Given the description of an element on the screen output the (x, y) to click on. 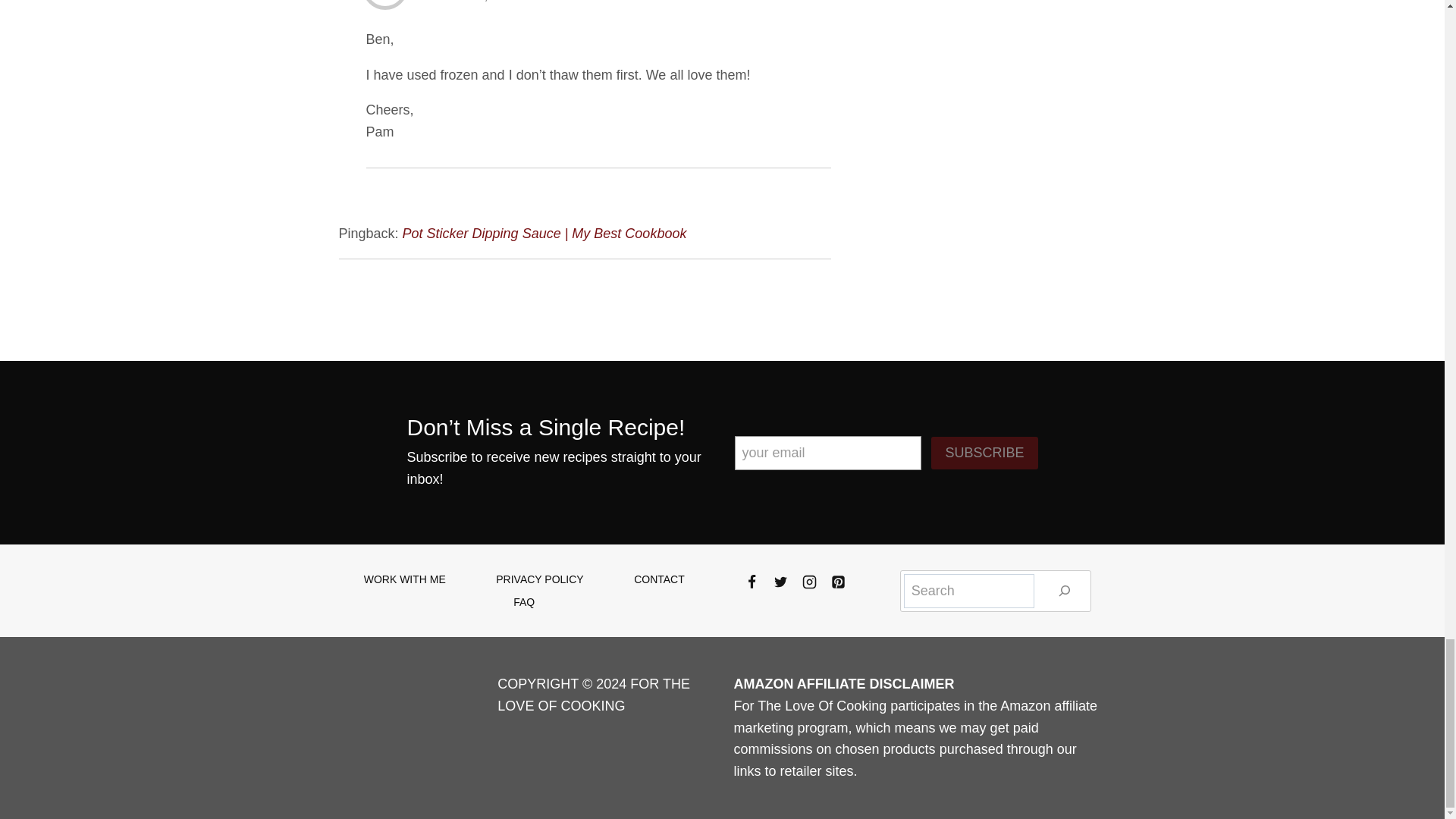
November 21, 2012 at 8:22 am (494, 1)
Subscribe (983, 452)
